Given the description of an element on the screen output the (x, y) to click on. 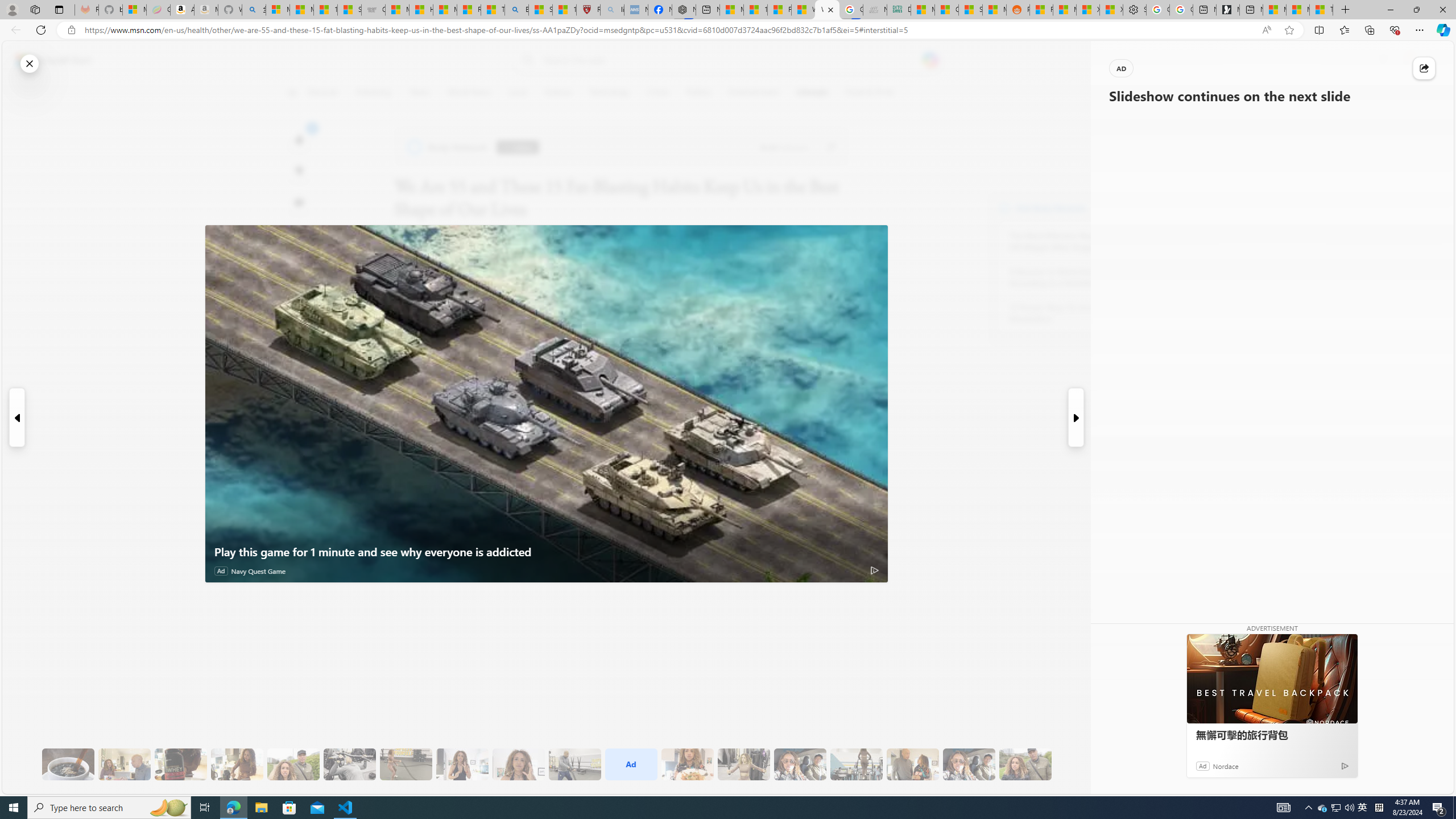
Body Network (1004, 207)
10 Then, They Do HIIT Cardio (406, 764)
6 (299, 170)
Class: at-item (299, 266)
8 Be Mindful of Coffee (68, 764)
12 Proven Ways To Increase Your Metabolism (1071, 313)
6 Since Eating More Protein Her Training Has Improved (180, 764)
